Given the description of an element on the screen output the (x, y) to click on. 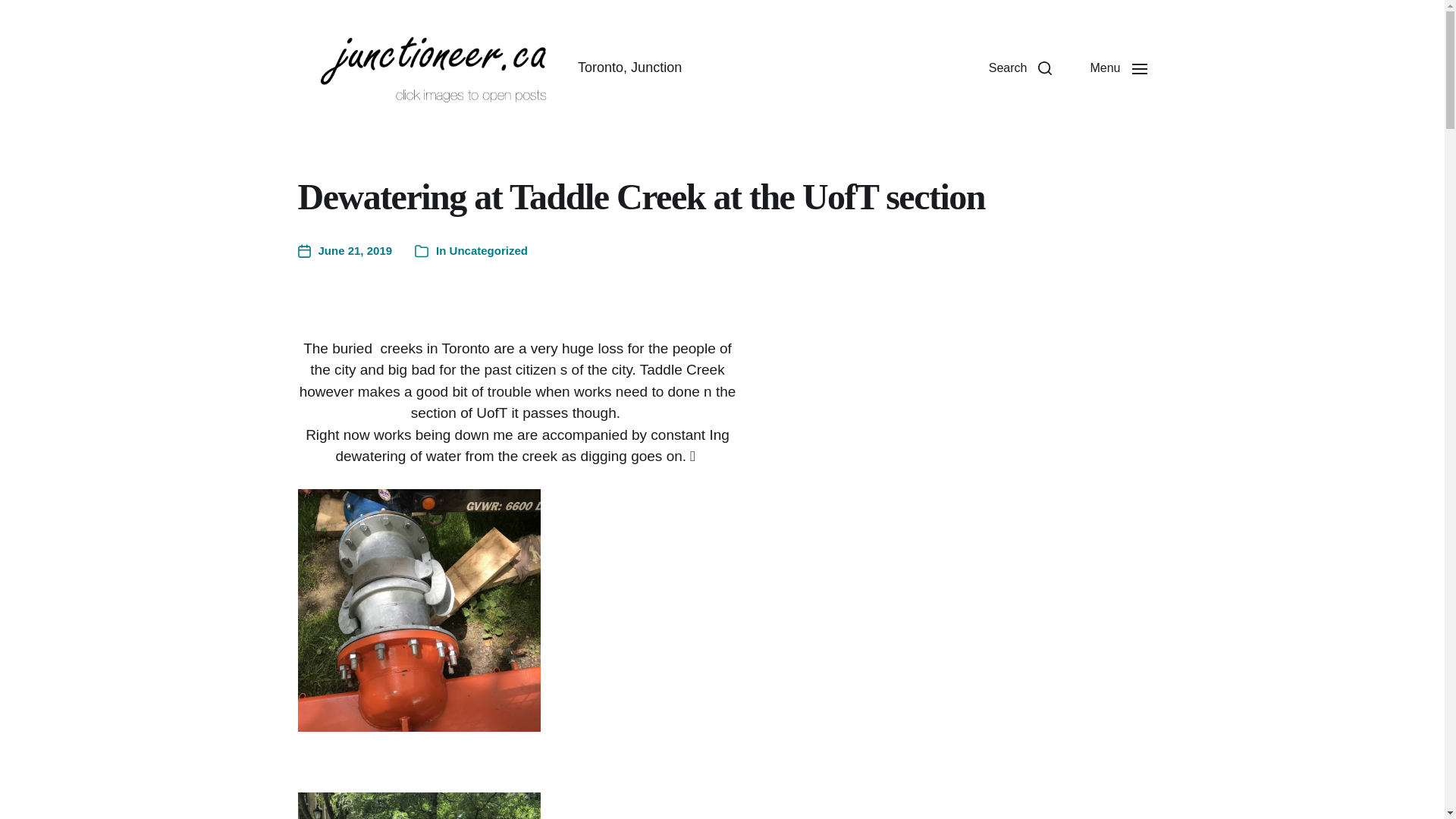
Search (1020, 68)
Menu (1118, 68)
Uncategorized (488, 250)
June 21, 2019 (344, 251)
